Given the description of an element on the screen output the (x, y) to click on. 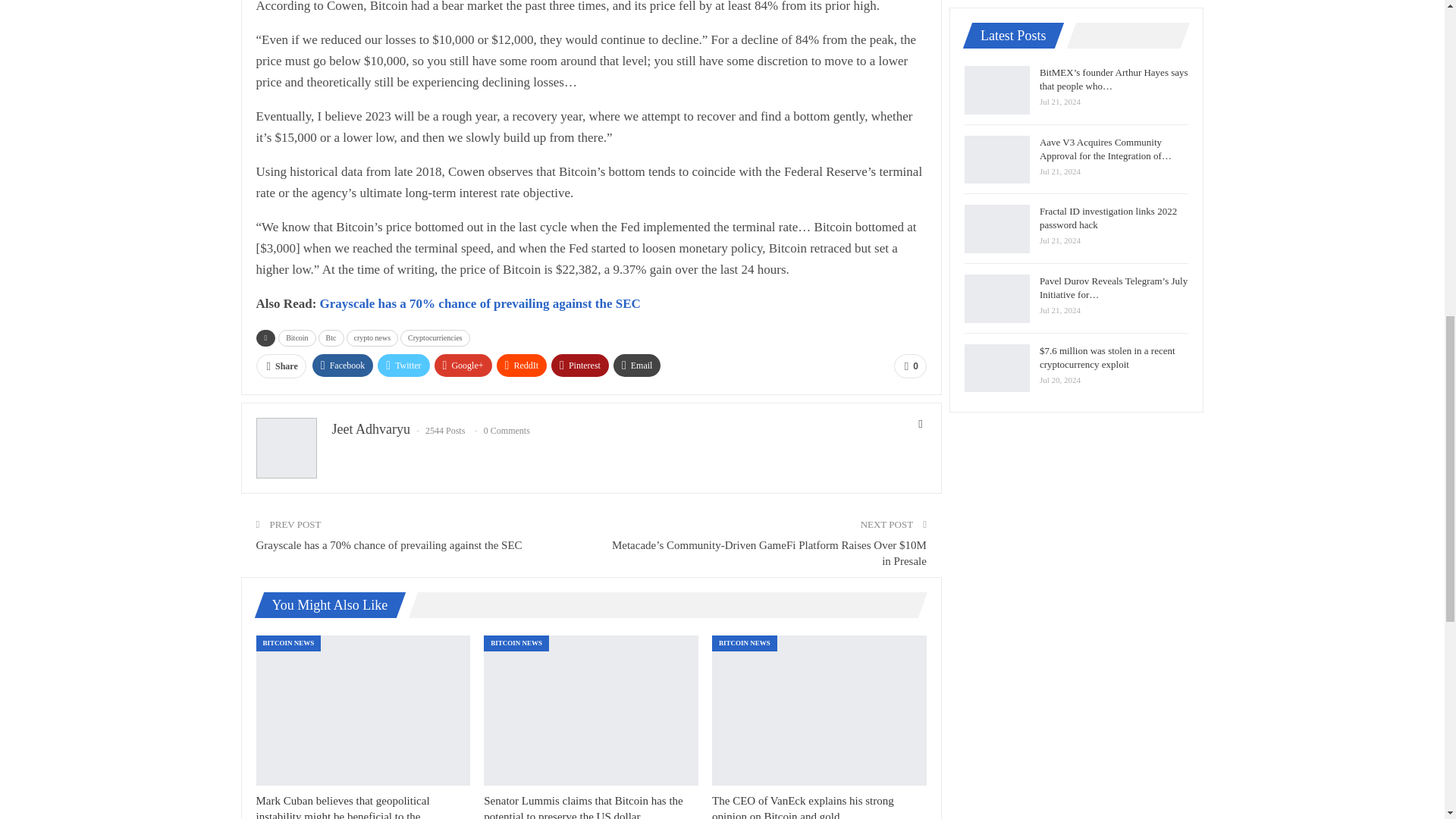
Bitcoin (296, 338)
Btc (330, 338)
